Given the description of an element on the screen output the (x, y) to click on. 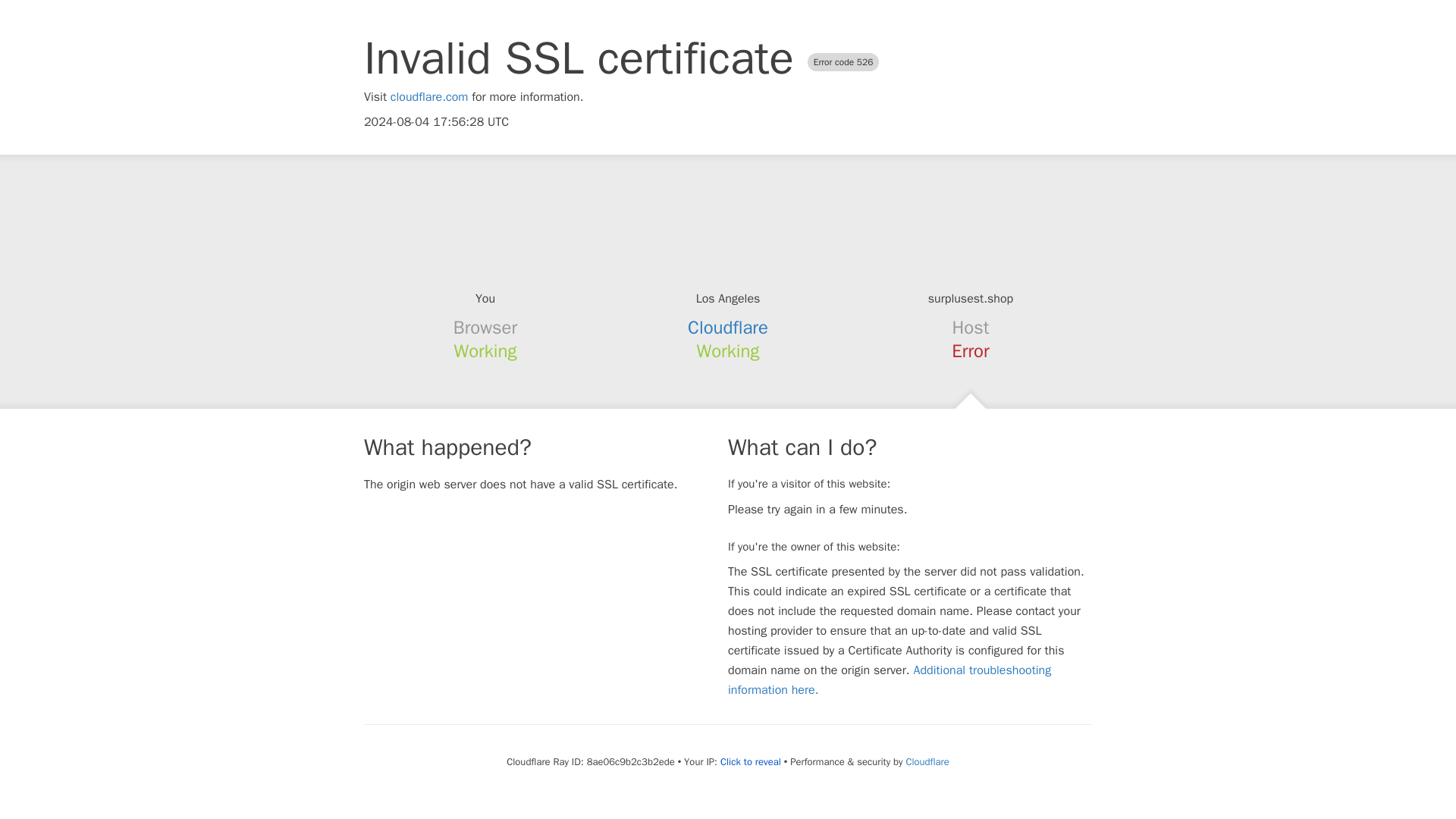
Additional troubleshooting information here. (889, 679)
Click to reveal (750, 762)
Cloudflare (727, 327)
Cloudflare (927, 761)
cloudflare.com (429, 96)
